Given the description of an element on the screen output the (x, y) to click on. 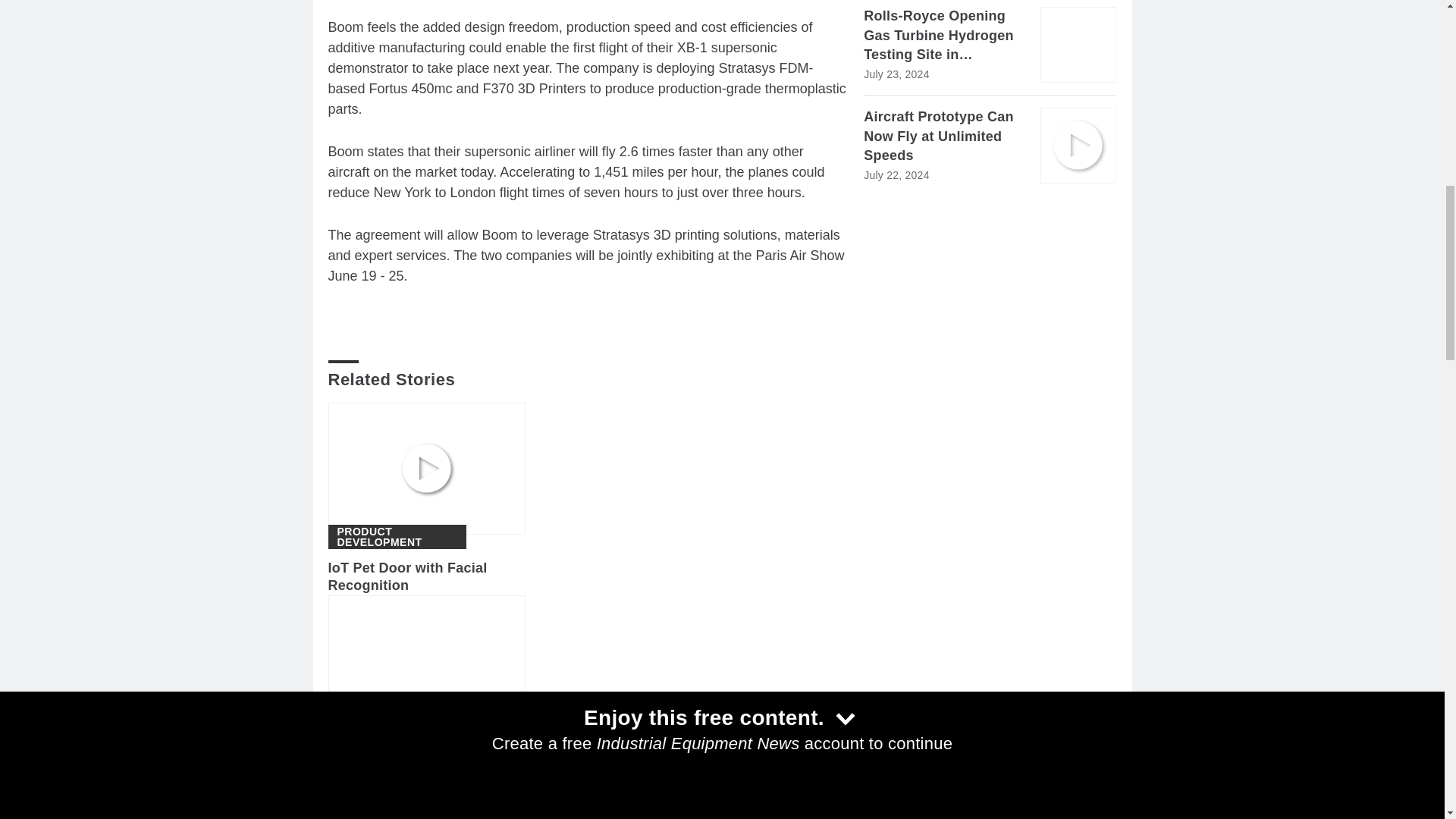
Product Development (396, 729)
Product Development (396, 536)
